Given the description of an element on the screen output the (x, y) to click on. 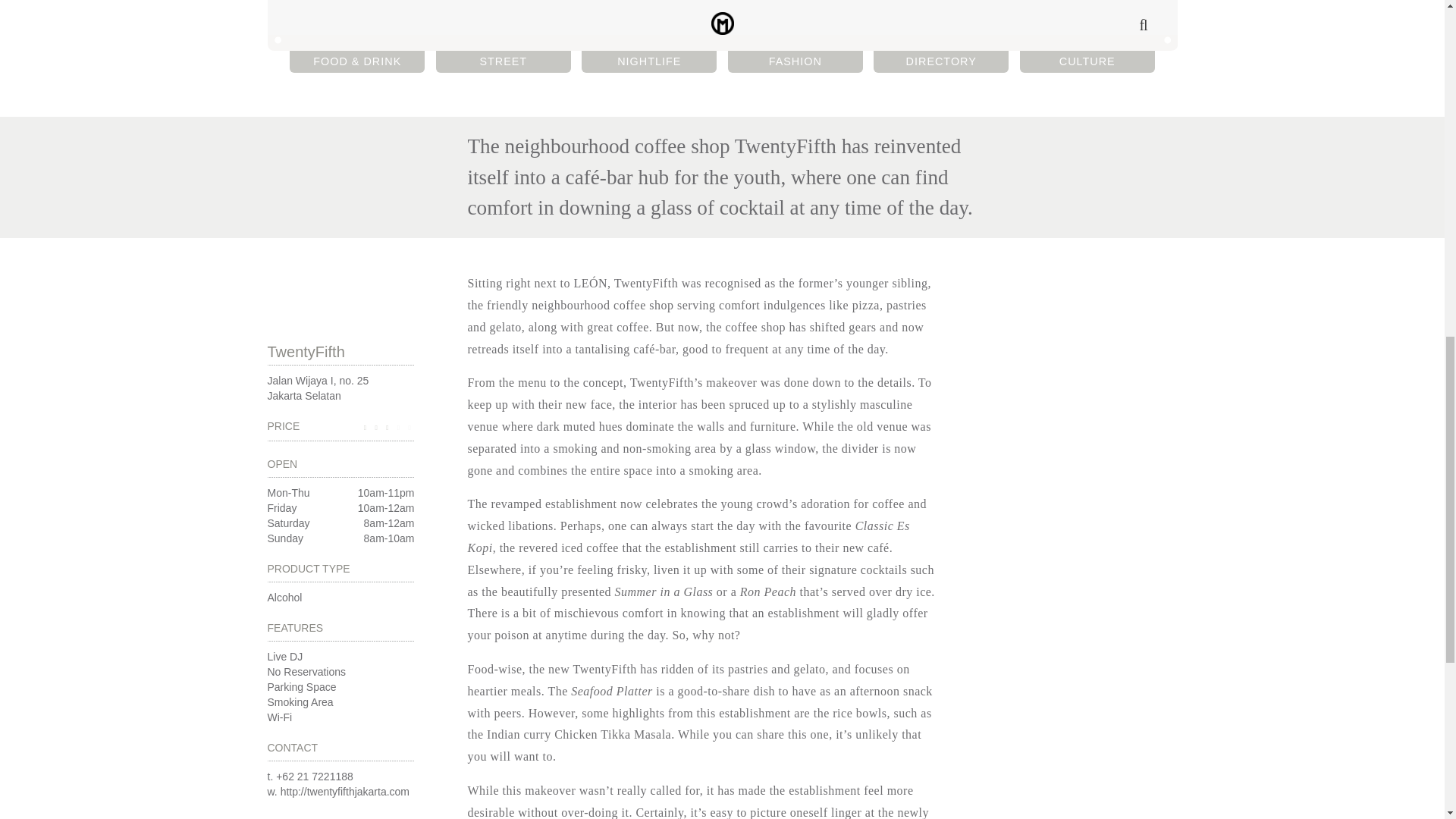
Parking Space (301, 686)
Smoking Area (299, 702)
Wi-Fi (279, 717)
Share on Facebook (504, 60)
Alcohol (283, 597)
Live DJ (339, 388)
Call TwentyFifth (284, 656)
View on Google Maps (314, 776)
No Reservations (339, 235)
Visit TwentyFifth Website (306, 671)
TwentyFifth (345, 791)
SHARE (339, 350)
